Given the description of an element on the screen output the (x, y) to click on. 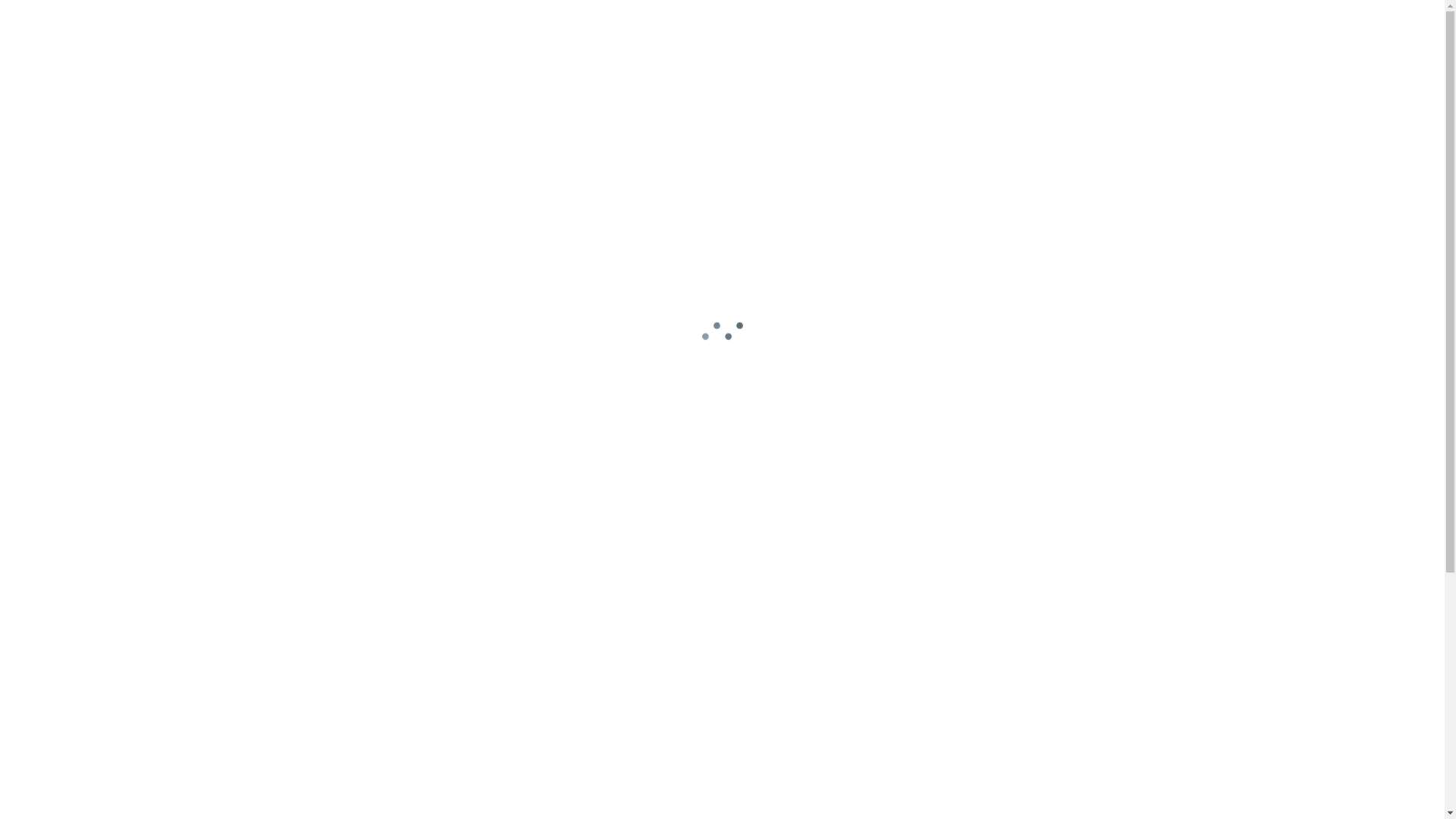
Testimonials Element type: text (787, 30)
GET A QUOTE Element type: text (1111, 30)
Services Element type: text (624, 30)
Reach us Element type: text (878, 30)
0418711512 Element type: text (383, 507)
Home Element type: text (470, 30)
Gallery Element type: text (700, 30)
info@cooloolaremovals.com.au Element type: text (1061, 507)
About us Element type: text (544, 30)
Top Element type: text (1421, 758)
